Given the description of an element on the screen output the (x, y) to click on. 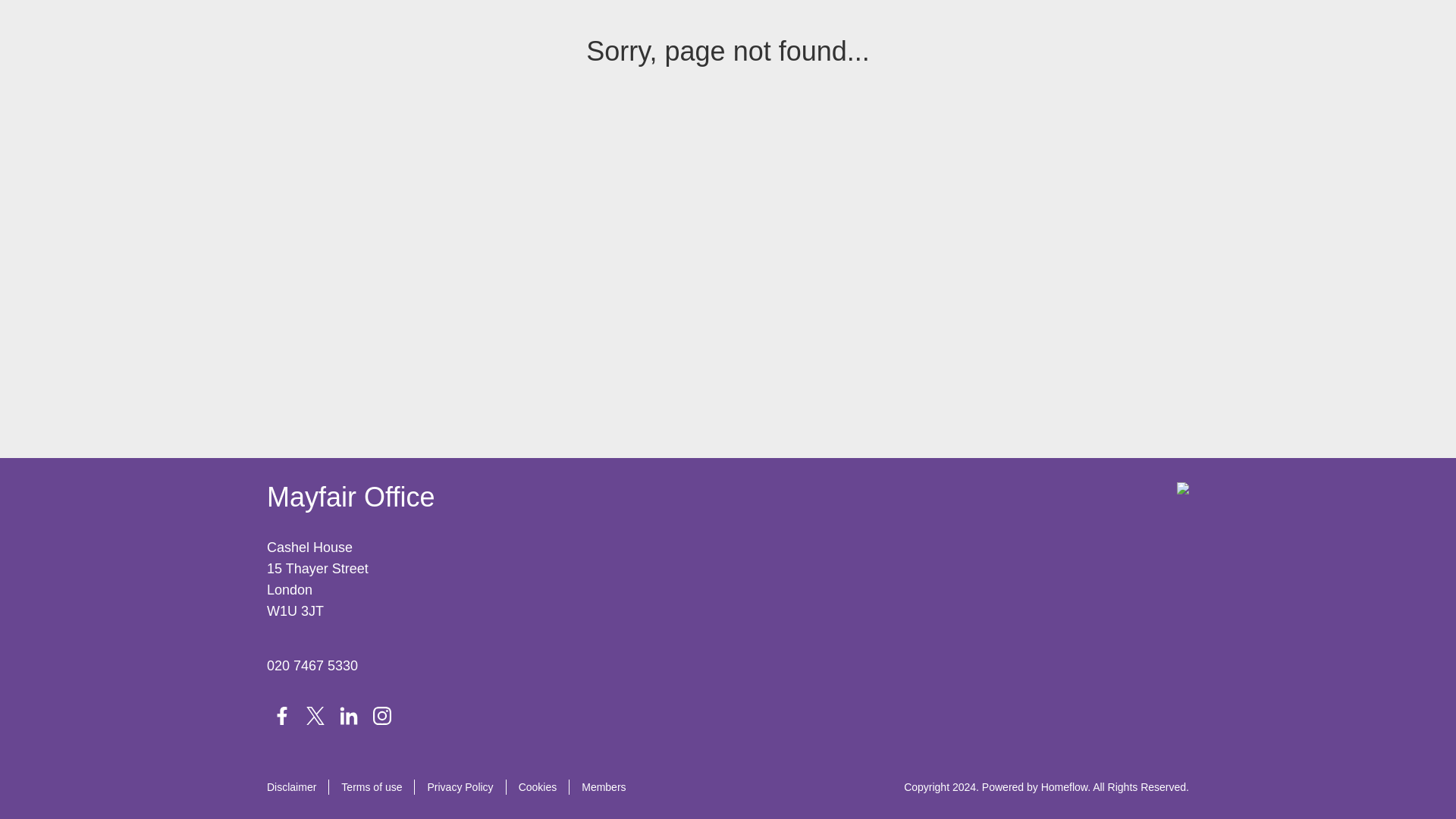
Members (603, 786)
Cookies (544, 786)
Privacy Policy (465, 786)
Terms of use (377, 786)
020 7467 5330 (312, 665)
Disclaimer (297, 786)
Homeflow (1064, 787)
